Given the description of an element on the screen output the (x, y) to click on. 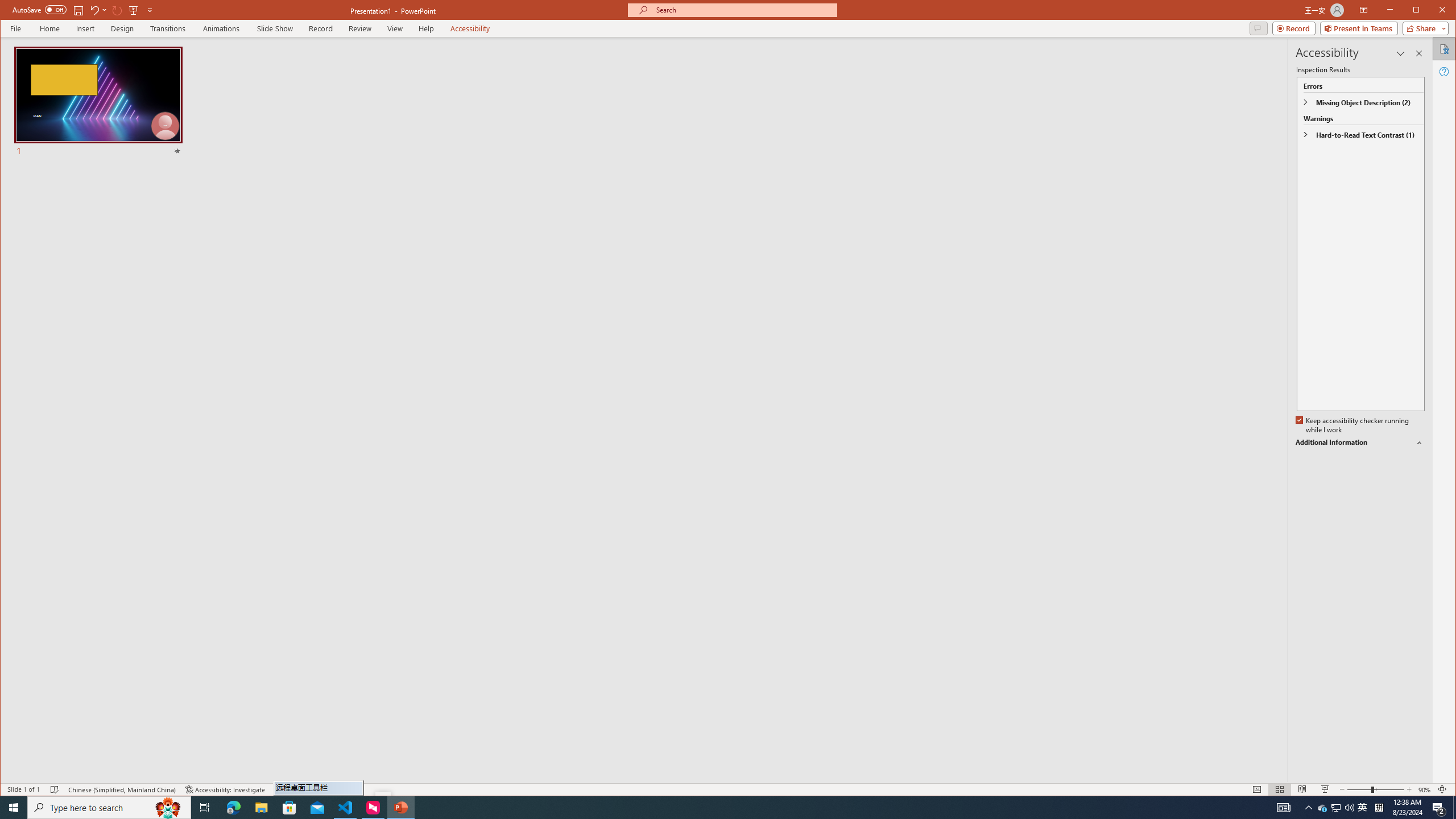
Spell Check No Errors (55, 789)
Close (1444, 11)
User Promoted Notification Area (1336, 807)
File Explorer (261, 807)
Ribbon Display Options (1364, 9)
Redo (117, 9)
Slide (98, 102)
Maximize (1432, 11)
Keep accessibility checker running while I work (1352, 425)
Class: MsoCommandBar (728, 789)
Task View (204, 807)
View (395, 28)
Zoom Out (1358, 789)
